Given the description of an element on the screen output the (x, y) to click on. 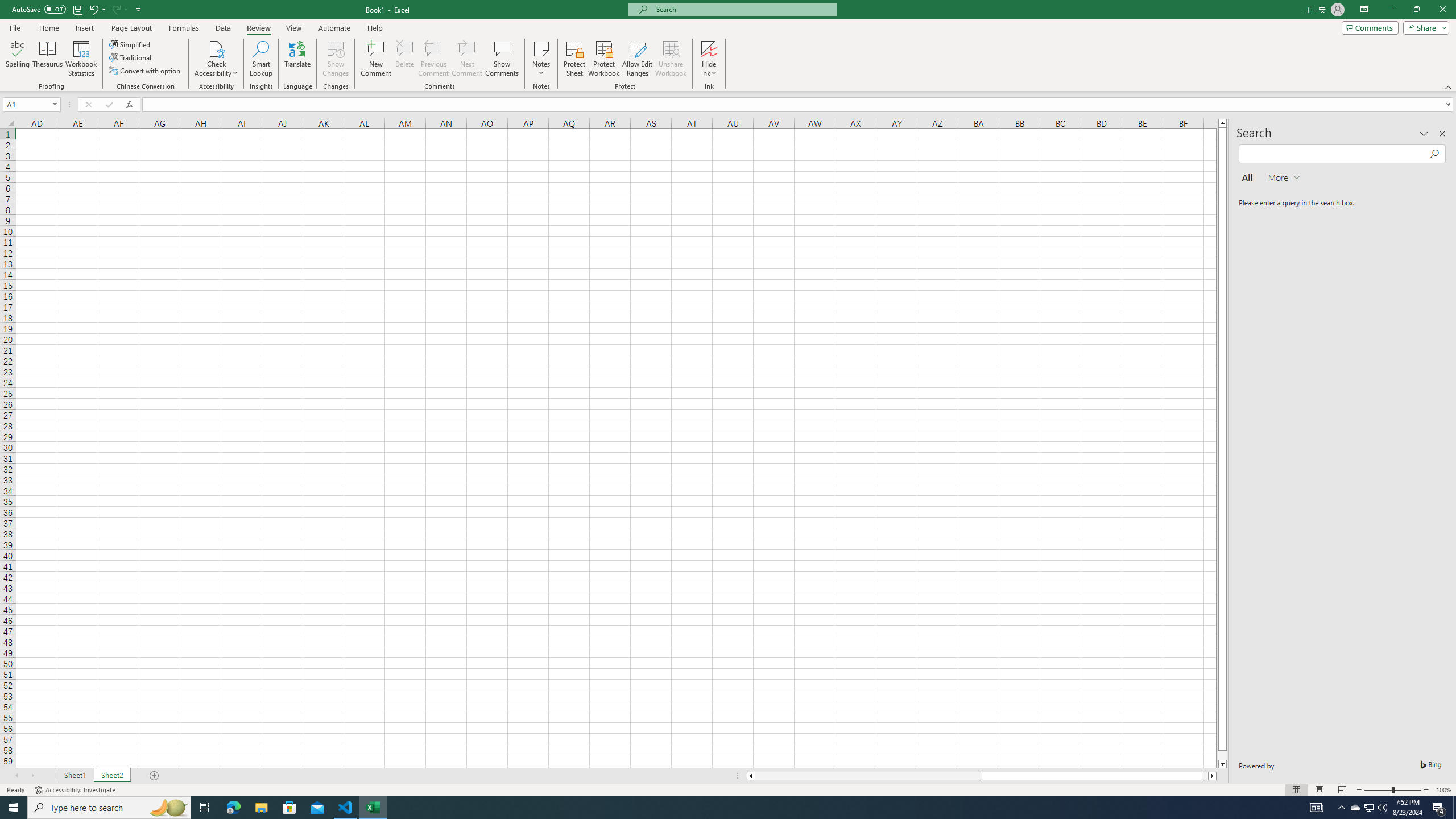
Allow Edit Ranges (637, 58)
Traditional (131, 56)
Show Changes (335, 58)
New Comment (376, 58)
